Given the description of an element on the screen output the (x, y) to click on. 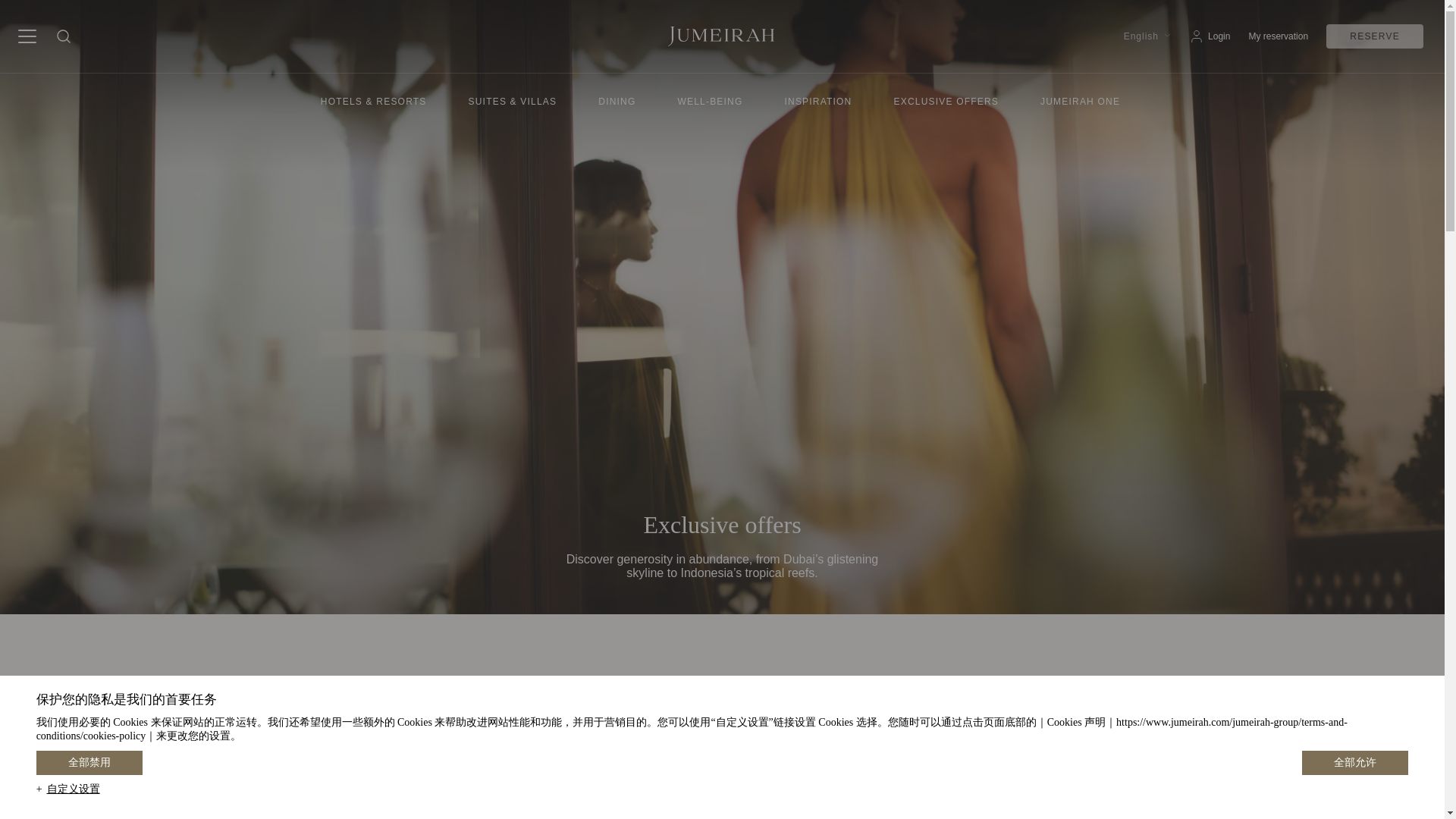
JUMEIRAH ONE (1081, 100)
INSPIRATION (819, 100)
WELL-BEING (710, 100)
DINING (618, 100)
English (1141, 36)
EXCLUSIVE OFFERS (947, 100)
RESERVE (1374, 36)
